Given the description of an element on the screen output the (x, y) to click on. 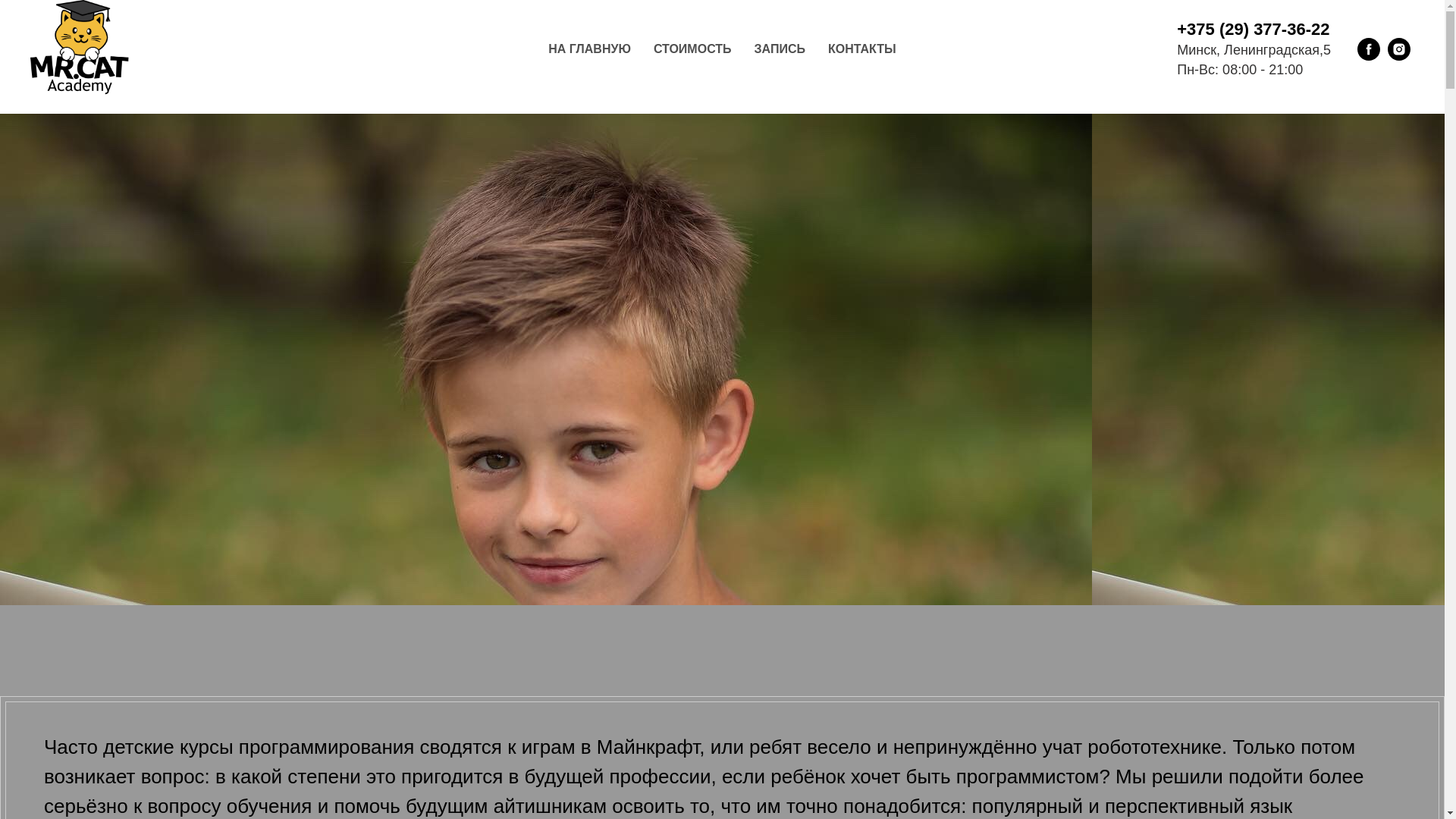
+375 (29) 377-36-22 Element type: text (1252, 28)
